Given the description of an element on the screen output the (x, y) to click on. 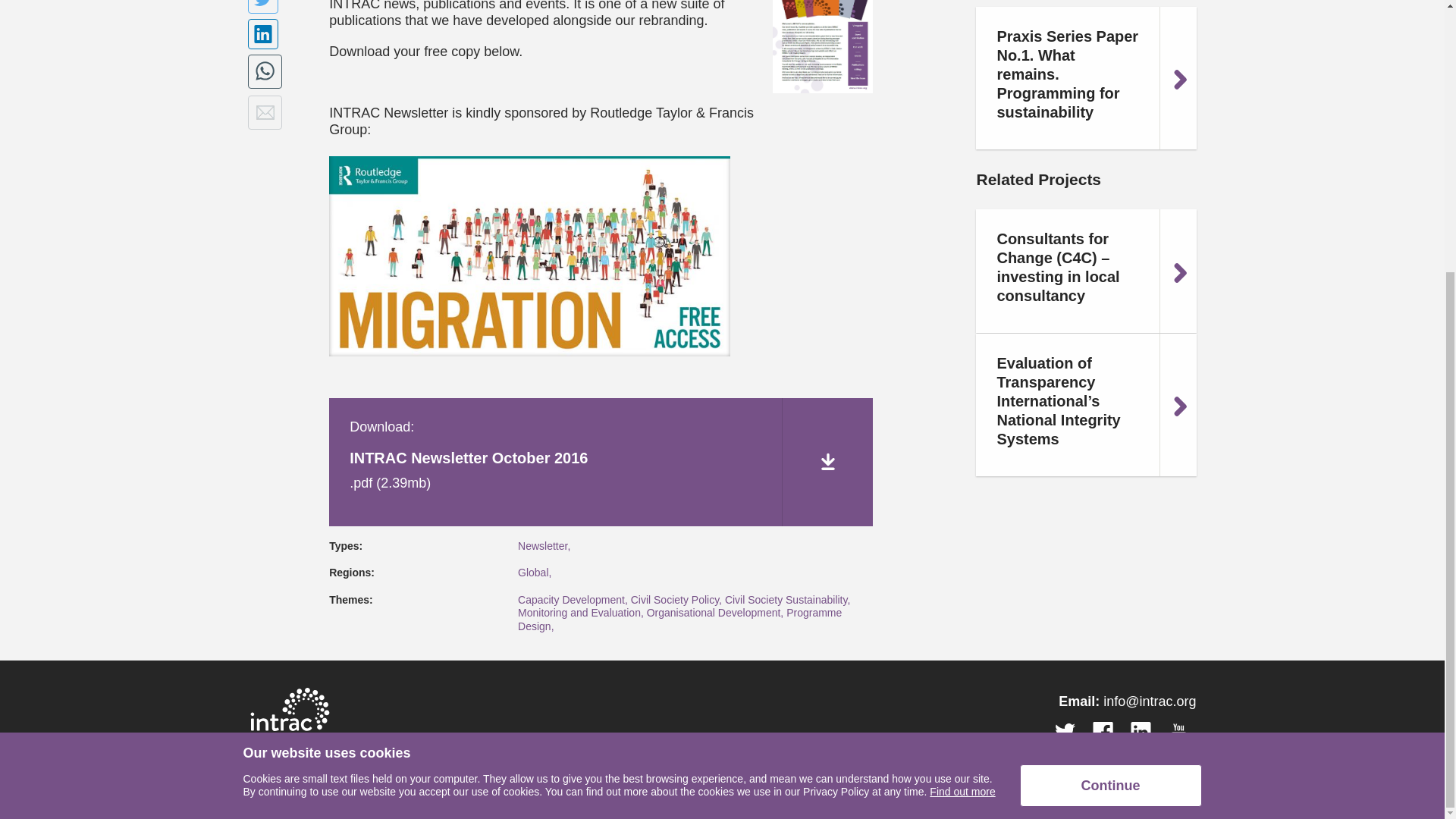
Find out more (962, 392)
Find out more (962, 392)
Continue (1110, 386)
Share by Email (264, 112)
